Given the description of an element on the screen output the (x, y) to click on. 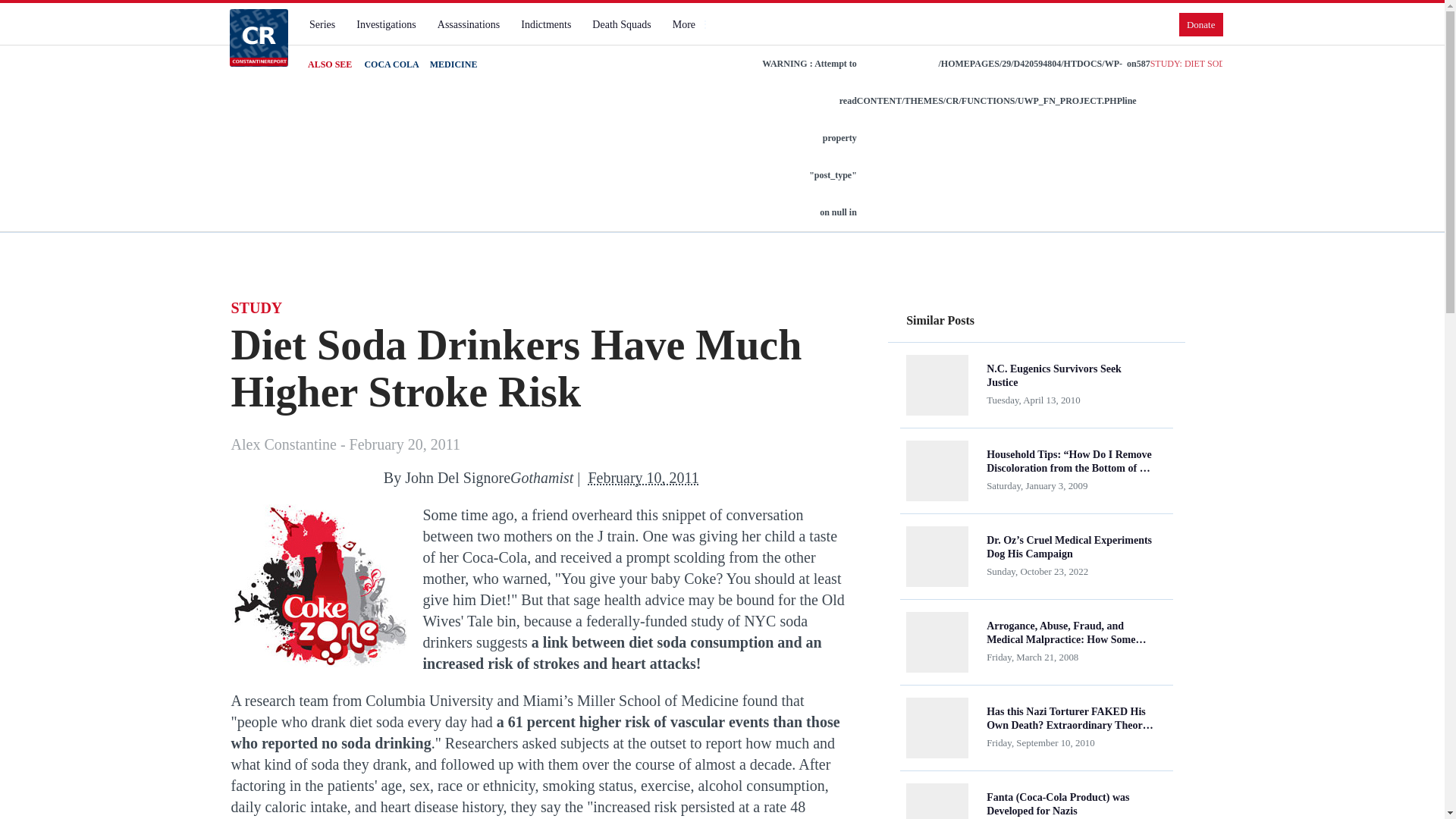
Death Squads (621, 23)
Study (318, 585)
Series (321, 23)
2011-02-10T11:27:11-05:00 (643, 477)
Indictments (545, 23)
More (690, 24)
Constantine Report (257, 37)
MEDICINE (453, 64)
Investigations (386, 23)
Assassinations (467, 23)
